Given the description of an element on the screen output the (x, y) to click on. 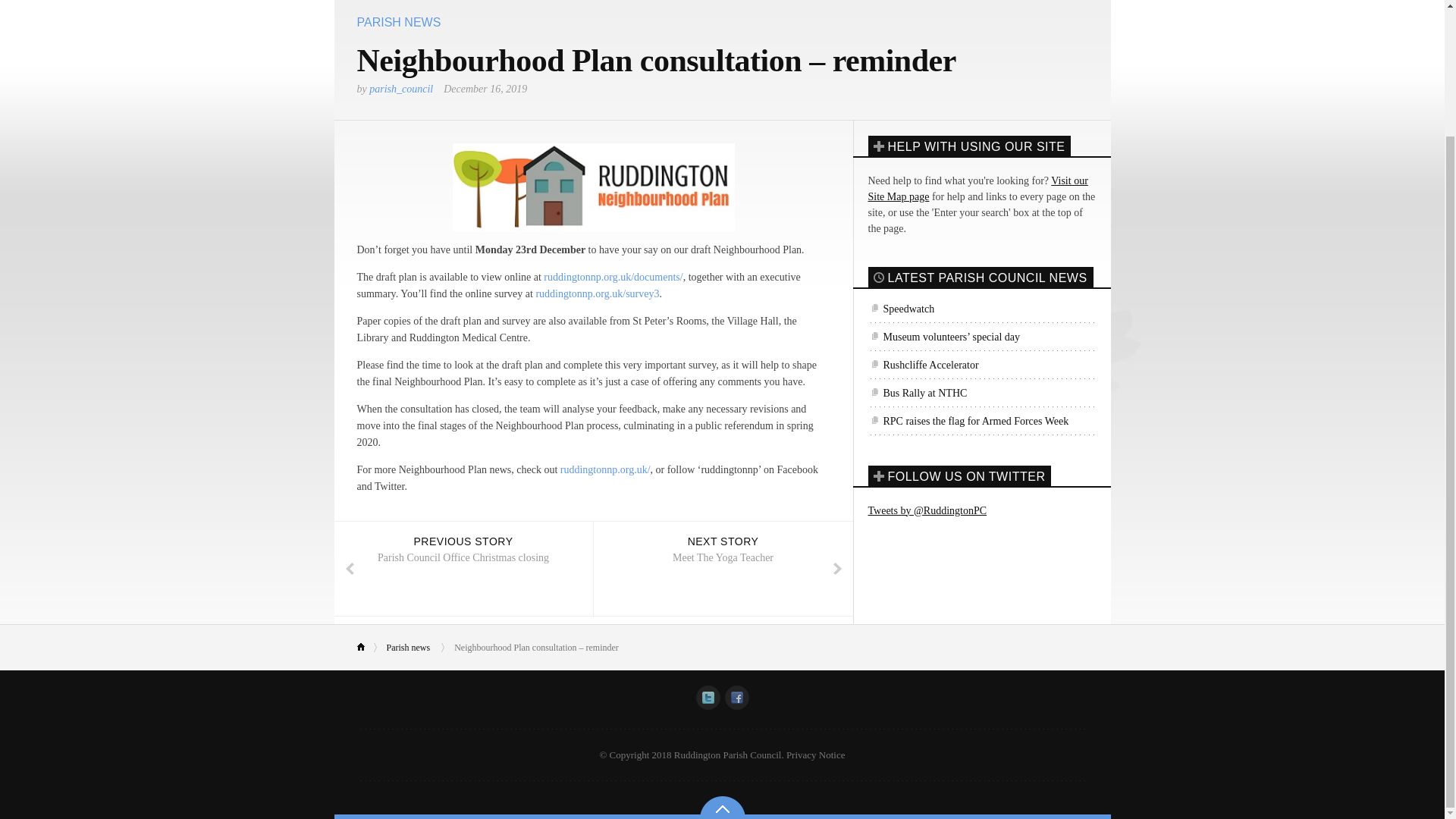
Site map (977, 188)
